Given the description of an element on the screen output the (x, y) to click on. 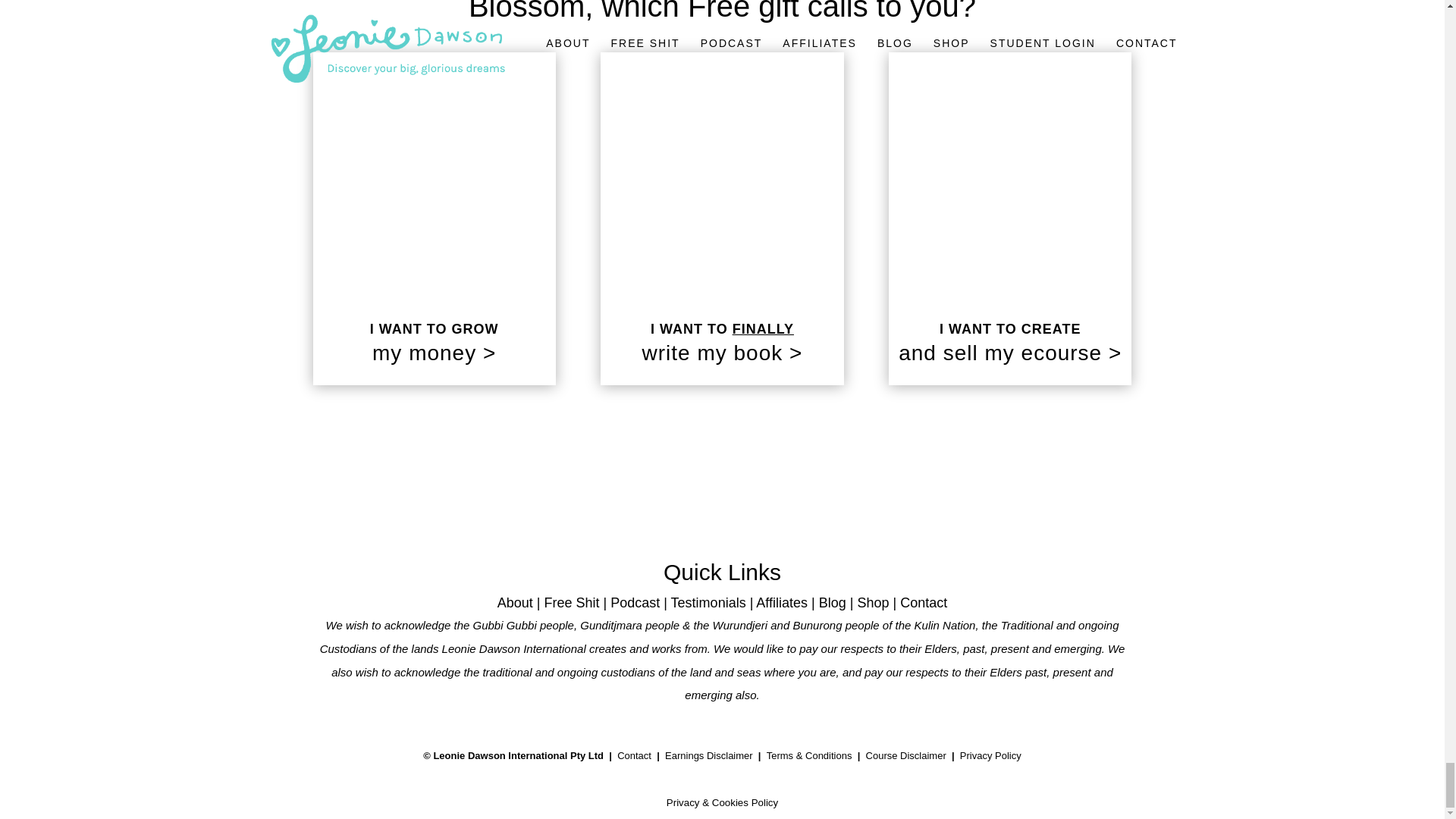
Affiliates (781, 602)
Contact (923, 602)
Earnings Disclaimer (708, 755)
Free Shit (570, 602)
Contact (633, 755)
Blog (831, 602)
About (514, 602)
Podcast (634, 602)
Testimonials (708, 602)
Shop (872, 602)
